Given the description of an element on the screen output the (x, y) to click on. 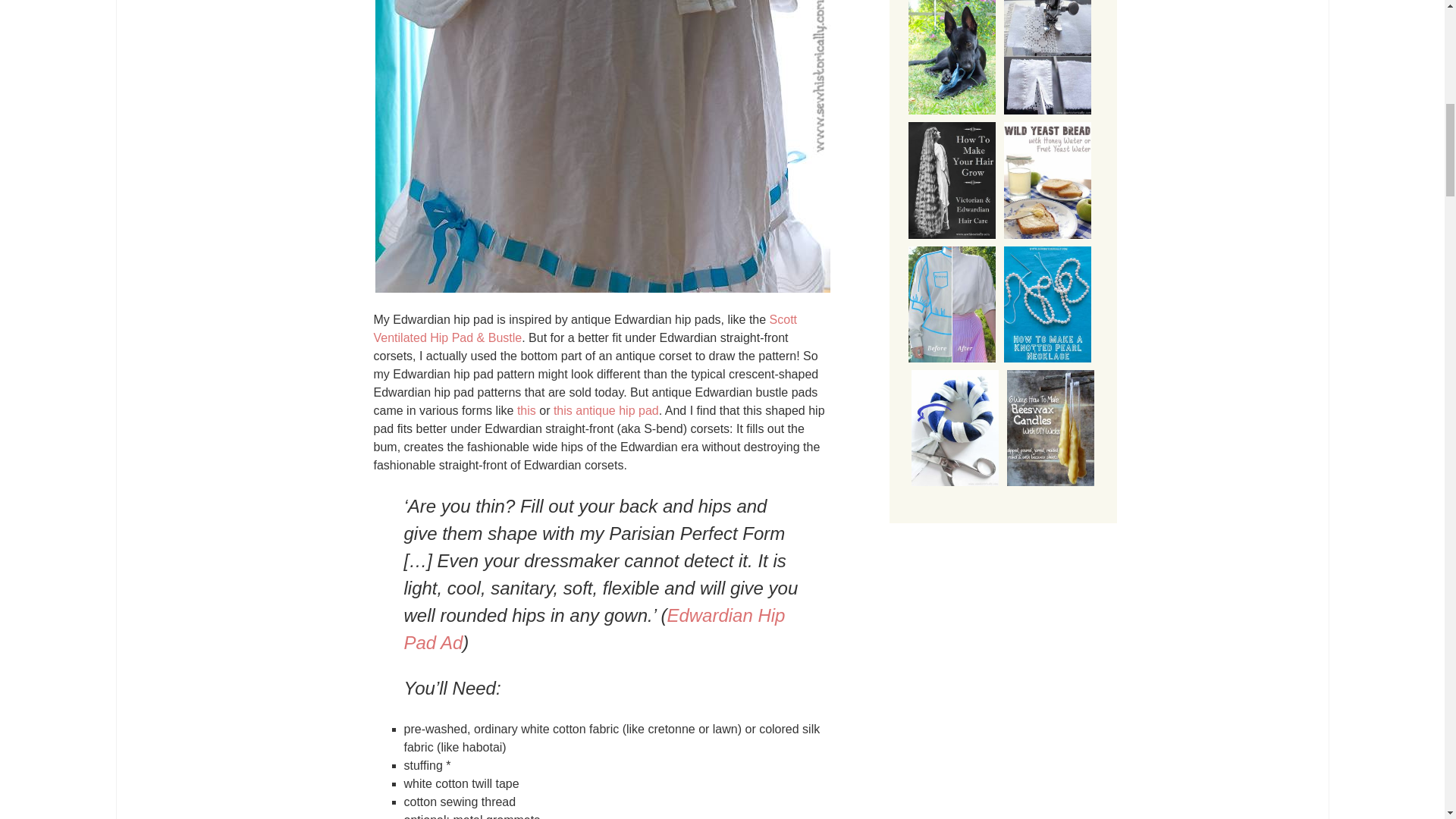
Edwardian Hip Pad Ad (593, 628)
this (525, 410)
this antique hip pad (606, 410)
